Given the description of an element on the screen output the (x, y) to click on. 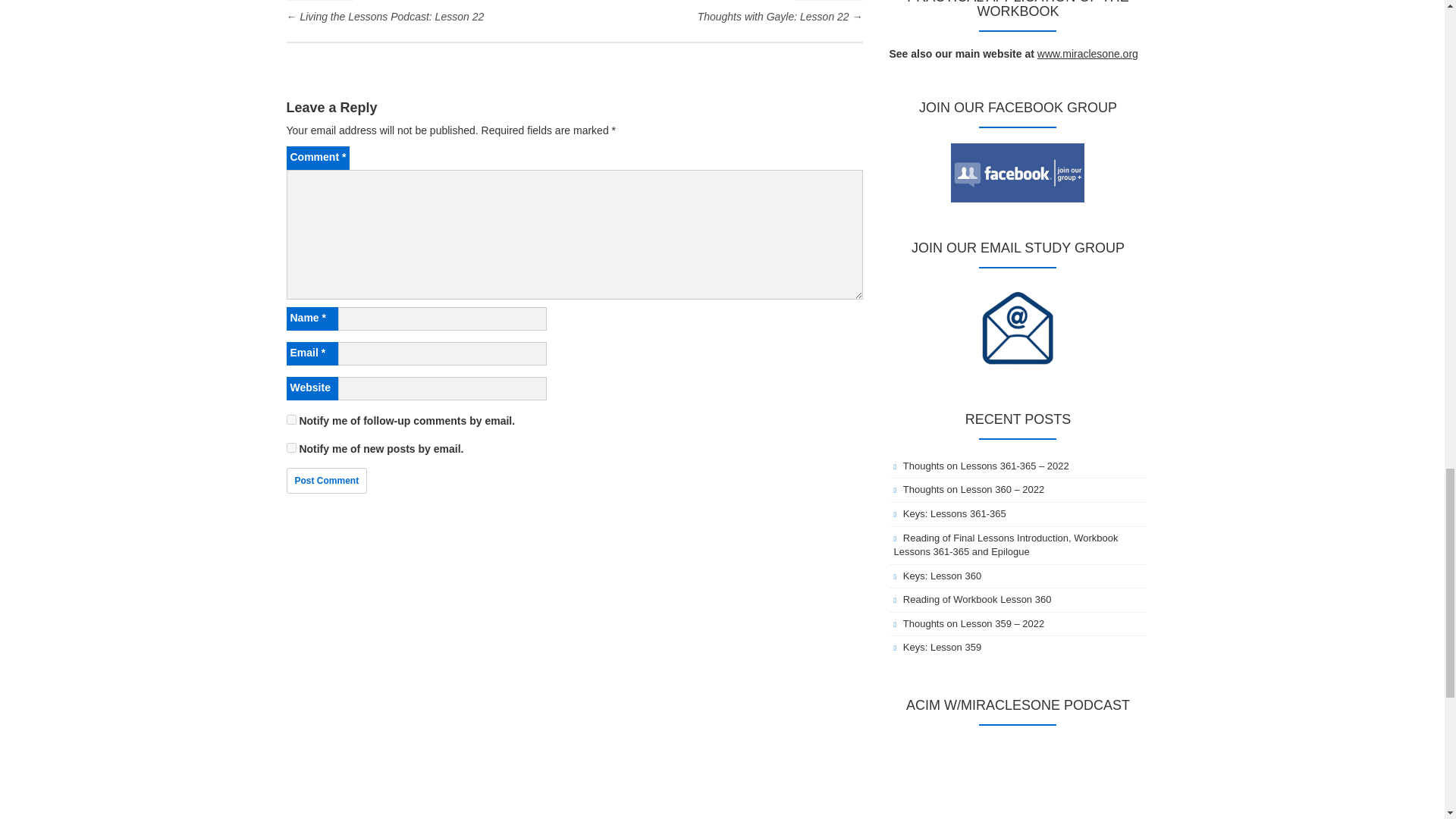
Post Comment (327, 480)
subscribe (291, 419)
subscribe (291, 447)
